Given the description of an element on the screen output the (x, y) to click on. 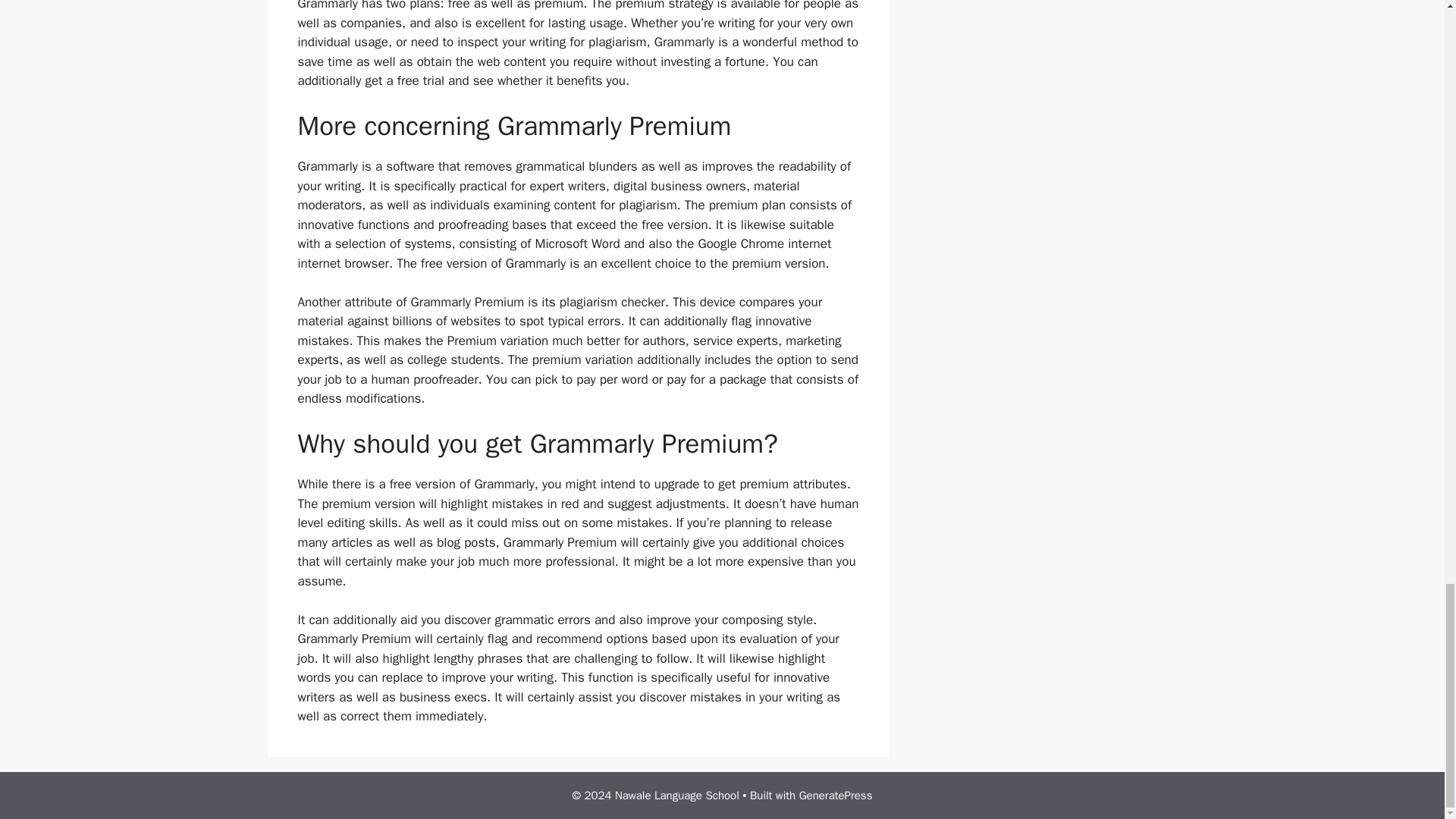
GeneratePress (835, 795)
